Given the description of an element on the screen output the (x, y) to click on. 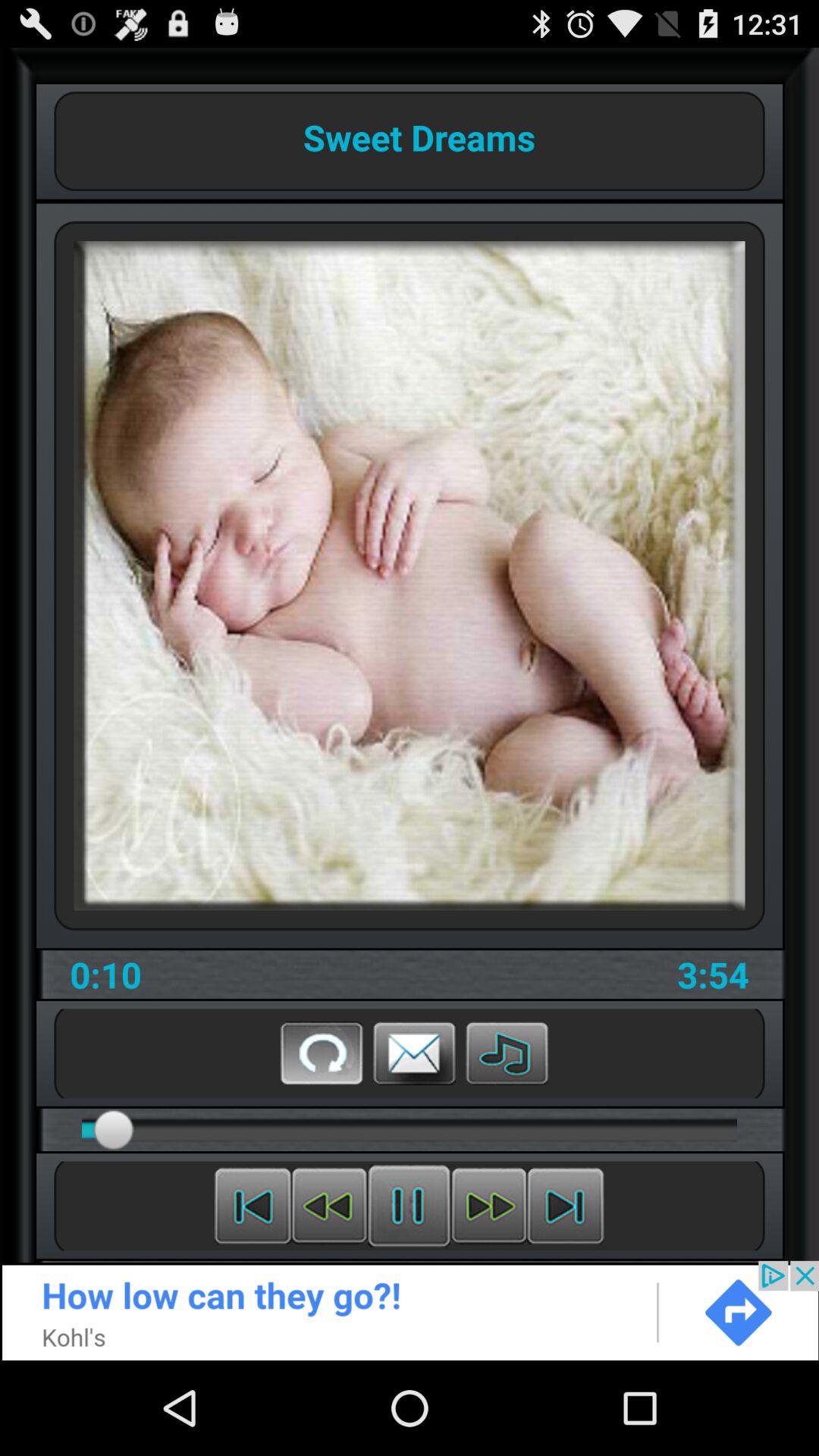
to start music (506, 1053)
